Given the description of an element on the screen output the (x, y) to click on. 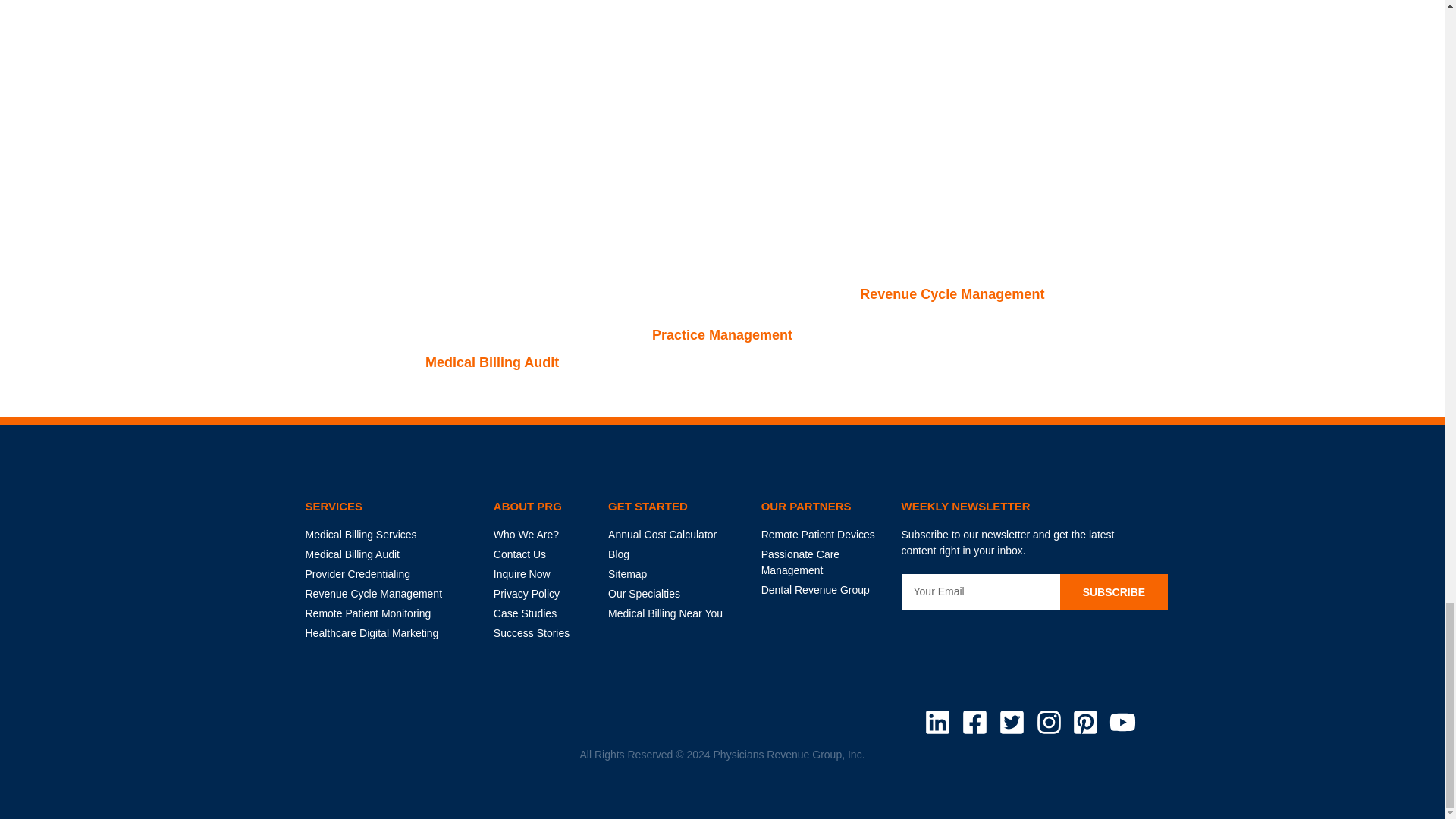
DMCA.com Protection Status (944, 633)
